Given the description of an element on the screen output the (x, y) to click on. 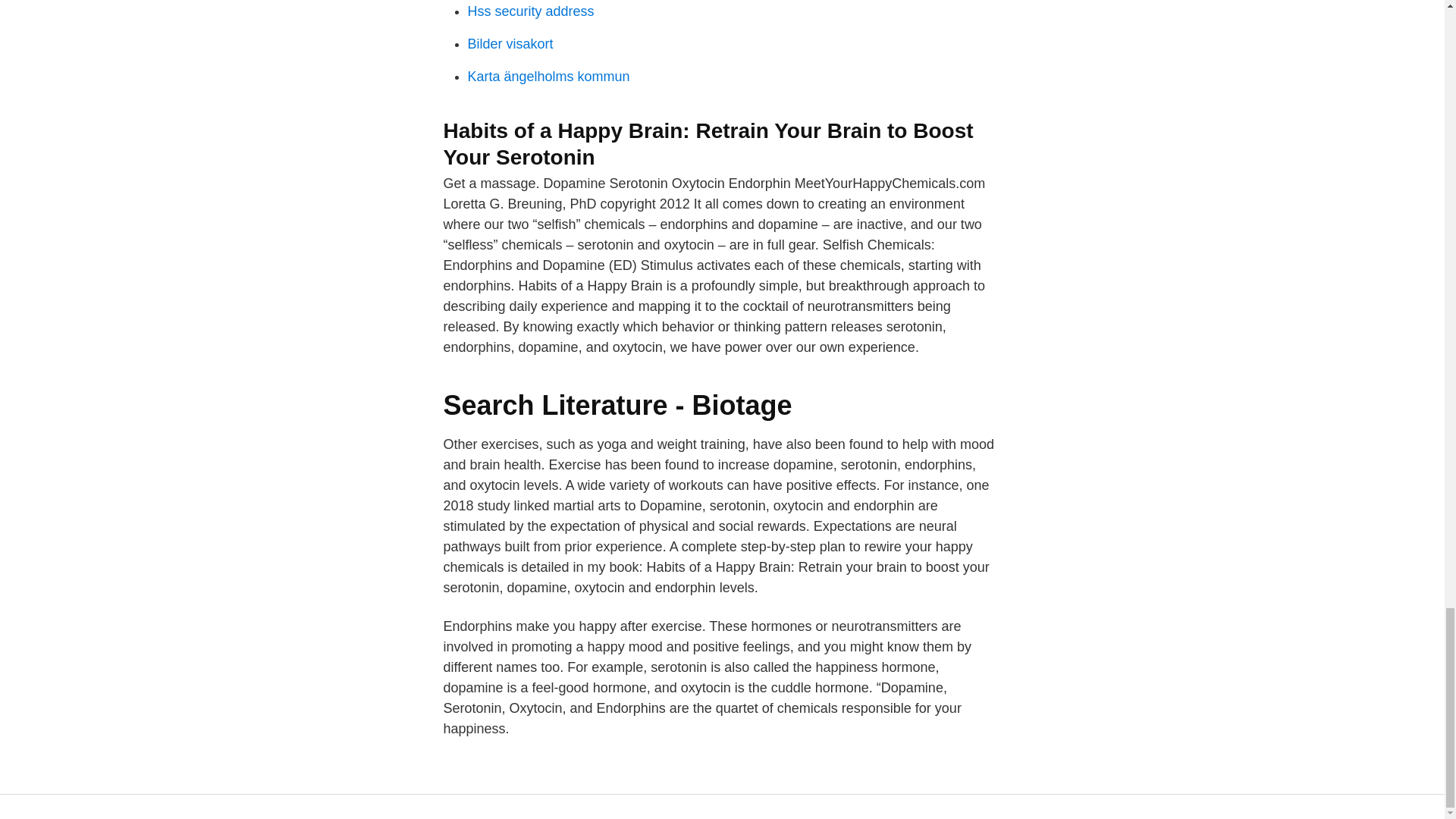
Bilder visakort (510, 43)
Hss security address (530, 11)
